Given the description of an element on the screen output the (x, y) to click on. 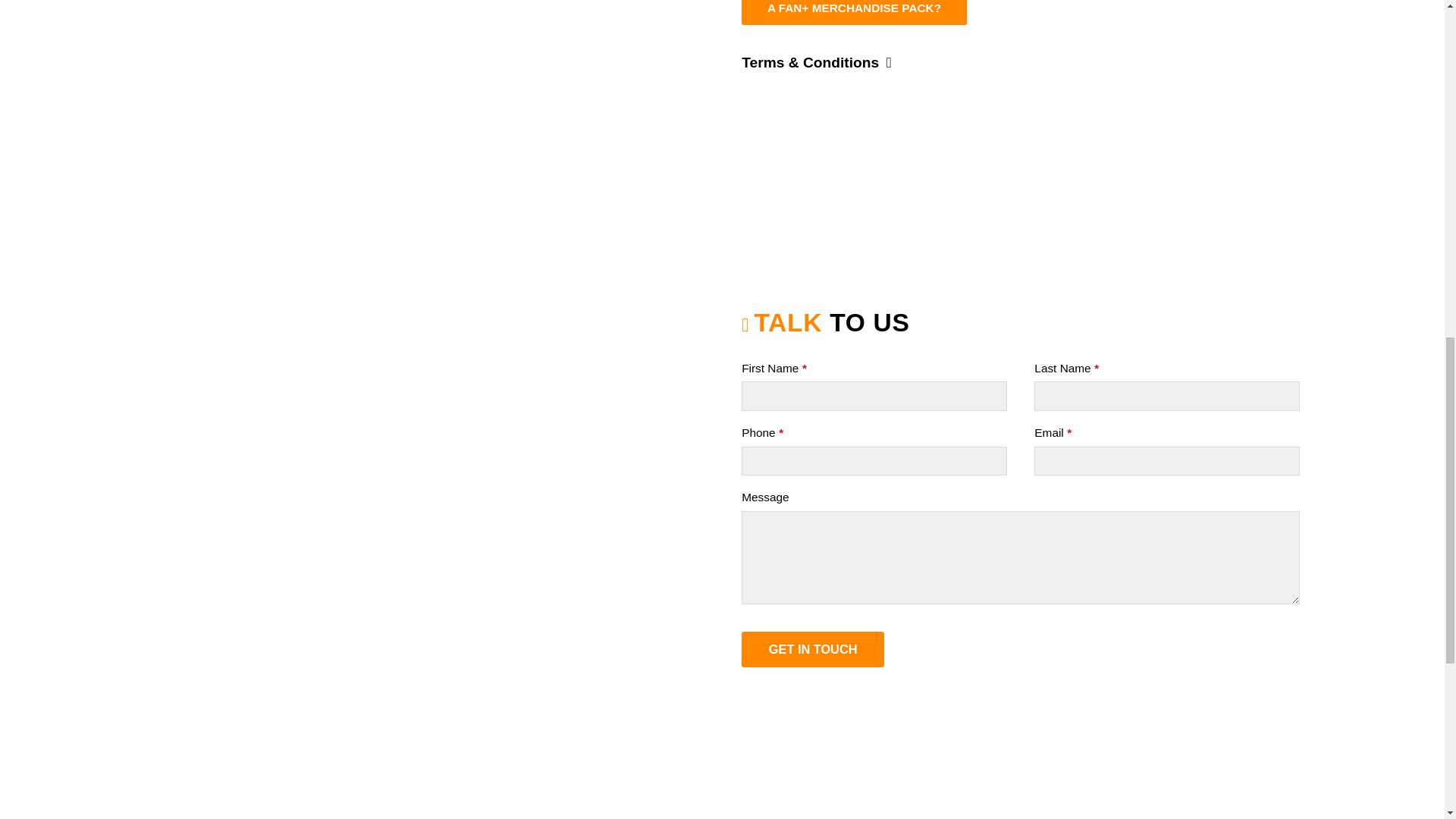
GET IN TOUCH (812, 649)
